Given the description of an element on the screen output the (x, y) to click on. 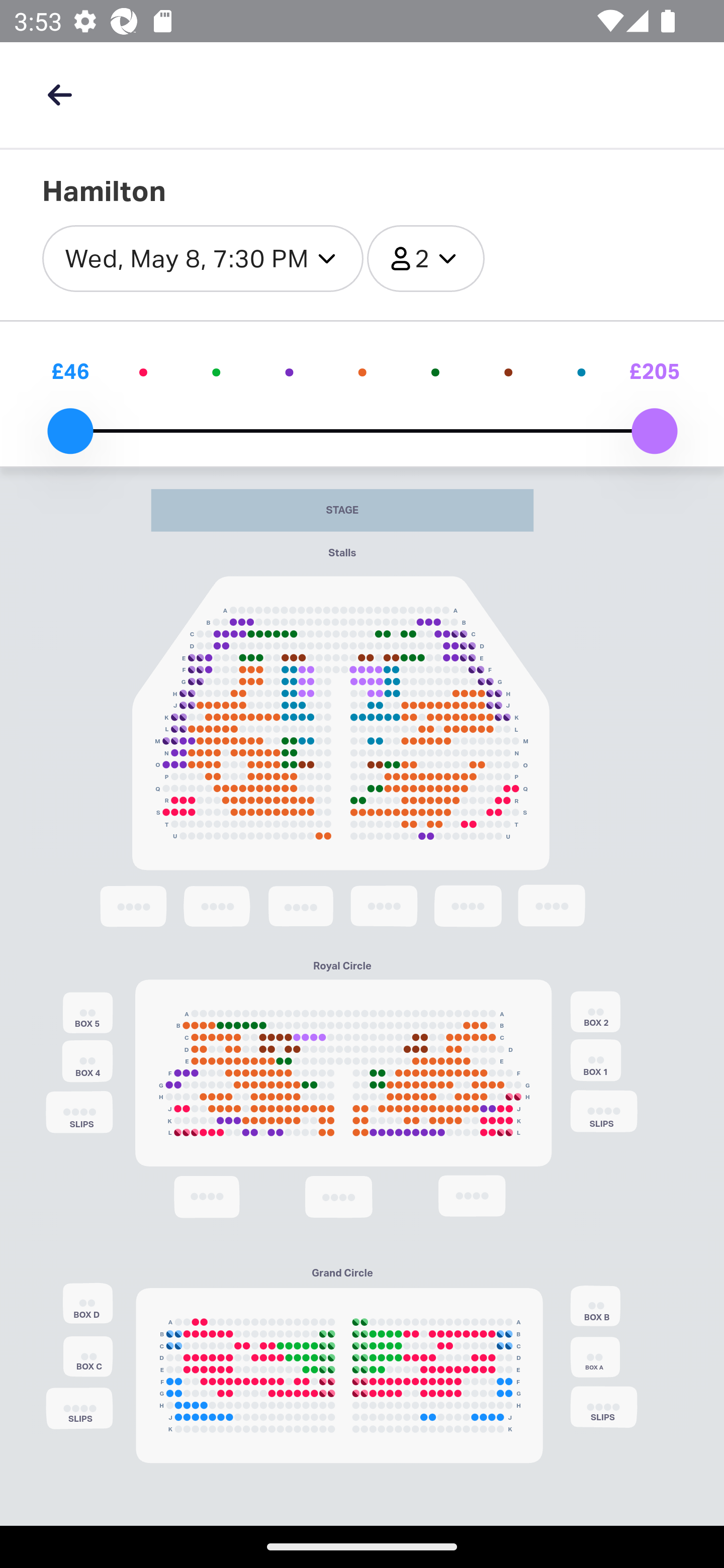
back button (59, 94)
Wed, May 8, 7:30 PM (202, 259)
2 (425, 259)
£46 (70, 370)
• (143, 370)
• (216, 370)
• (289, 370)
• (362, 370)
• (435, 370)
• (508, 370)
• (580, 370)
£205 (653, 370)
0.0 (69, 431)
100.0 (654, 431)
A A B B C C D D E E F F G G H H J J K K L L (342, 1073)
BOX 5 (87, 1012)
BOX 2 (595, 1012)
BOX 1 (596, 1059)
BOX 4 (87, 1061)
SLIPS (604, 1110)
SLIPS (79, 1113)
BOX D (87, 1303)
BOX B (595, 1305)
A A B B C C D D E E F F G G H H J J K K (339, 1374)
BOX C (88, 1356)
BOX A (595, 1356)
SLIPS (604, 1406)
SLIPS (79, 1408)
